Given the description of an element on the screen output the (x, y) to click on. 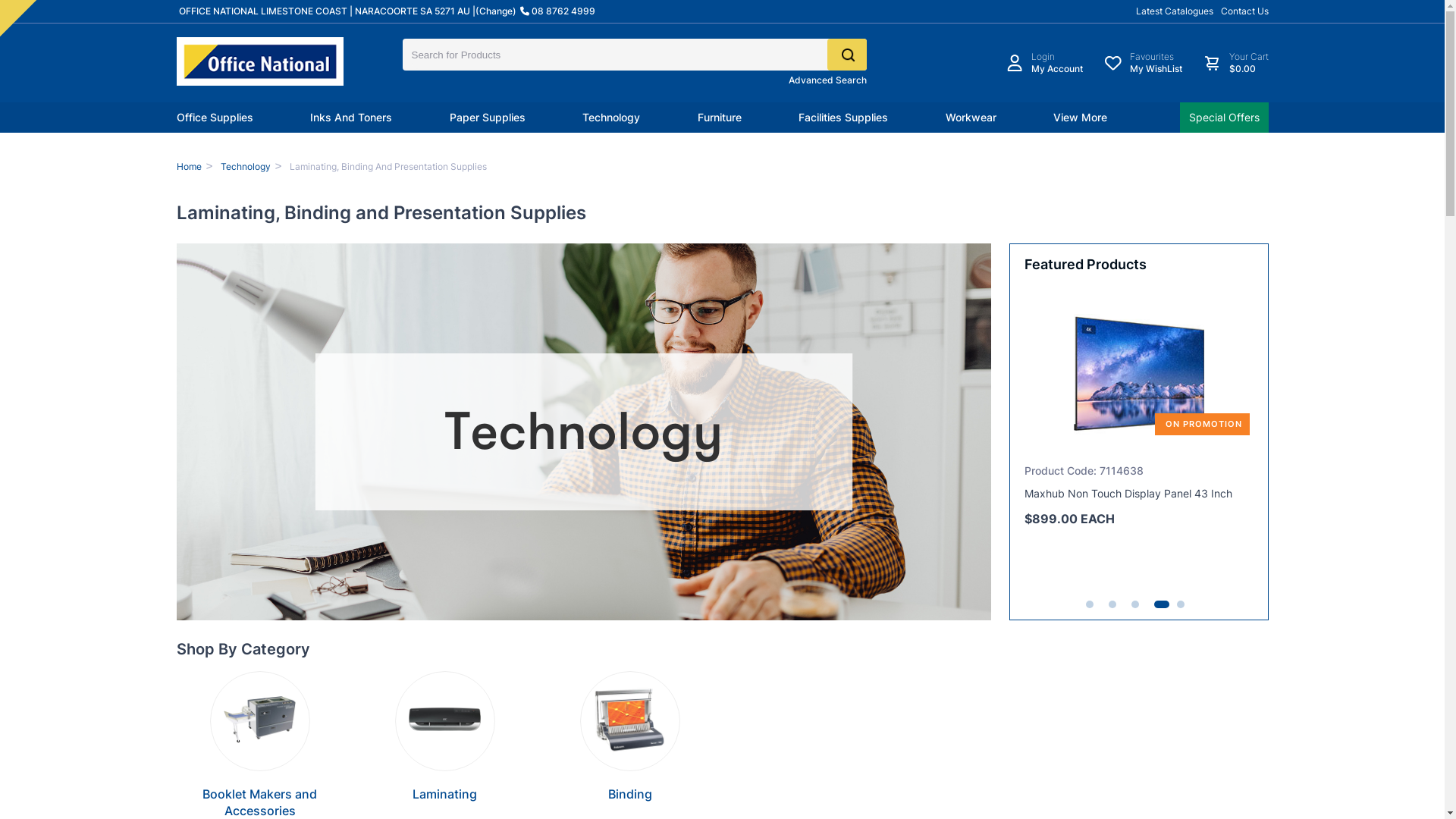
Office National Element type: hover (258, 61)
2 Element type: text (1112, 604)
4 Element type: text (1157, 604)
08 8762 4999  Element type: text (558, 11)
Paper Supplies Element type: text (486, 117)
Special Offers Element type: text (1223, 117)
Laminating Element type: text (444, 793)
Facilities Supplies Element type: text (843, 117)
Latest Catalogues Element type: text (1174, 10)
Search Element type: hover (846, 54)
5 Element type: text (1180, 604)
Workwear Element type: text (969, 117)
Booklet Makers and Accessories Element type: text (259, 802)
(Change) Element type: text (494, 11)
3 Element type: text (1135, 604)
Furniture Element type: text (719, 117)
Contact Us Element type: text (1244, 10)
View More Element type: text (1080, 117)
Advanced Search Element type: text (827, 79)
Home Element type: text (187, 166)
Favourites
My
WishList Element type: text (1143, 62)
Office Supplies Element type: text (213, 117)
Binding Element type: text (630, 793)
Technology Element type: text (611, 117)
Your Cart
$0.00 Element type: text (1234, 62)
11820441 Element type: text (7, 7)
1 Element type: text (1089, 604)
Inks And Toners Element type: text (351, 117)
Login
My
Account Element type: text (1043, 62)
Technology Element type: text (245, 166)
